Given the description of an element on the screen output the (x, y) to click on. 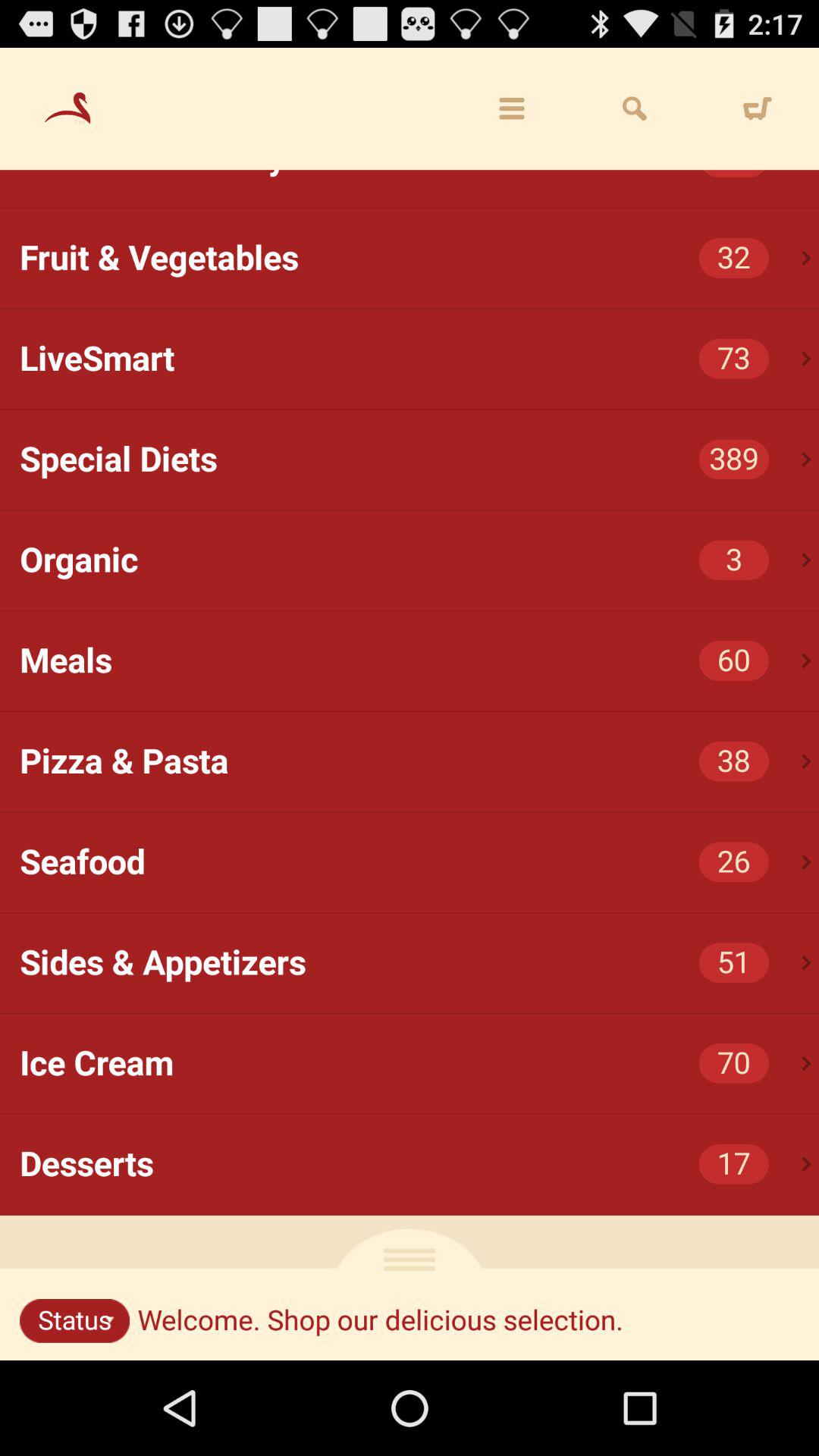
tap the item to the right of the 17 icon (806, 1163)
